Given the description of an element on the screen output the (x, y) to click on. 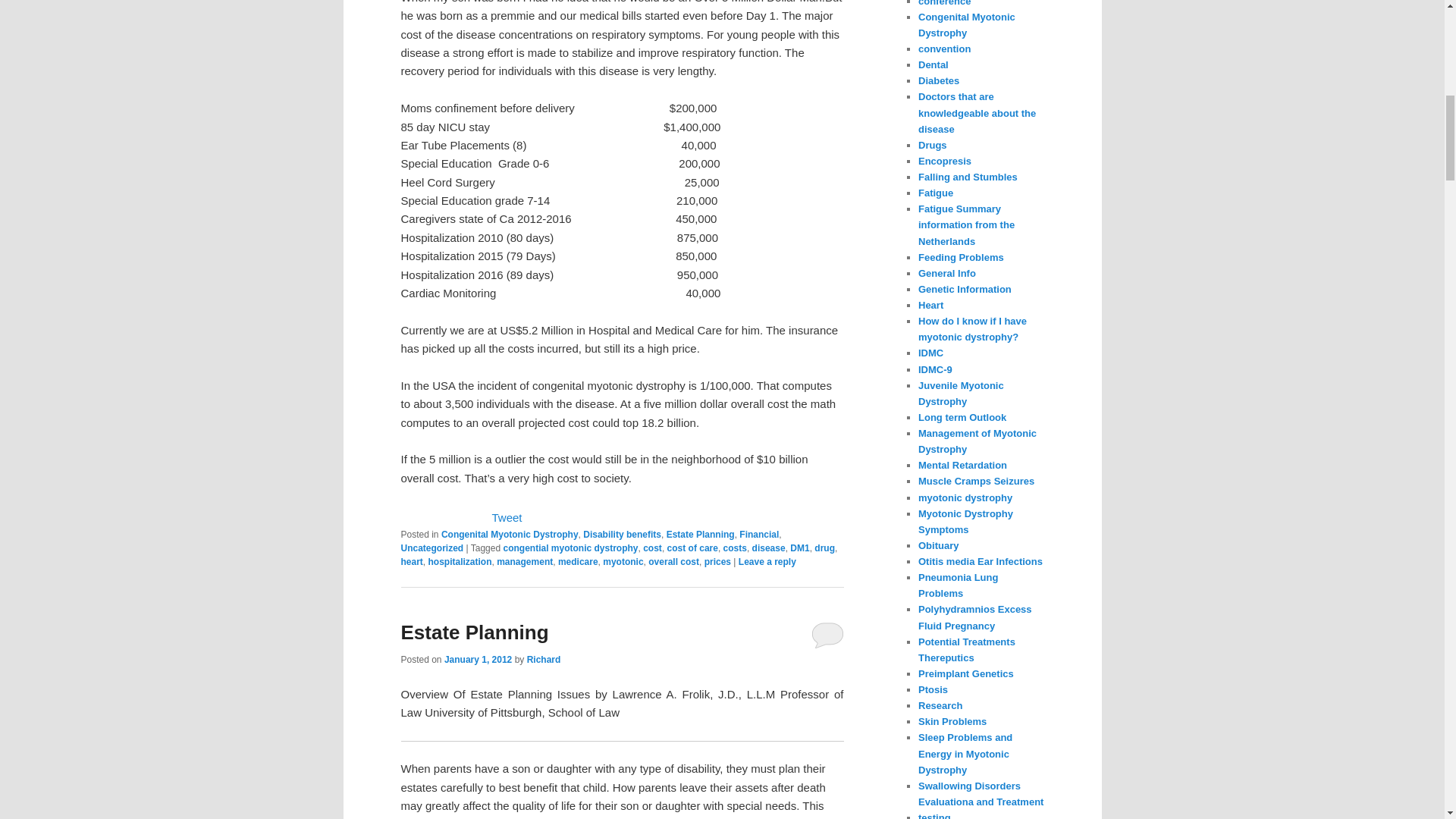
heart (411, 561)
DM1 (799, 547)
management (524, 561)
hospitalization (460, 561)
View all posts by Richard (543, 659)
cost of care (691, 547)
costs (734, 547)
2:35 pm (478, 659)
medicare (577, 561)
Uncategorized (431, 547)
disease (769, 547)
January 1, 2012 (478, 659)
Estate Planning (700, 534)
myotonic (622, 561)
Estate Planning (474, 630)
